Given the description of an element on the screen output the (x, y) to click on. 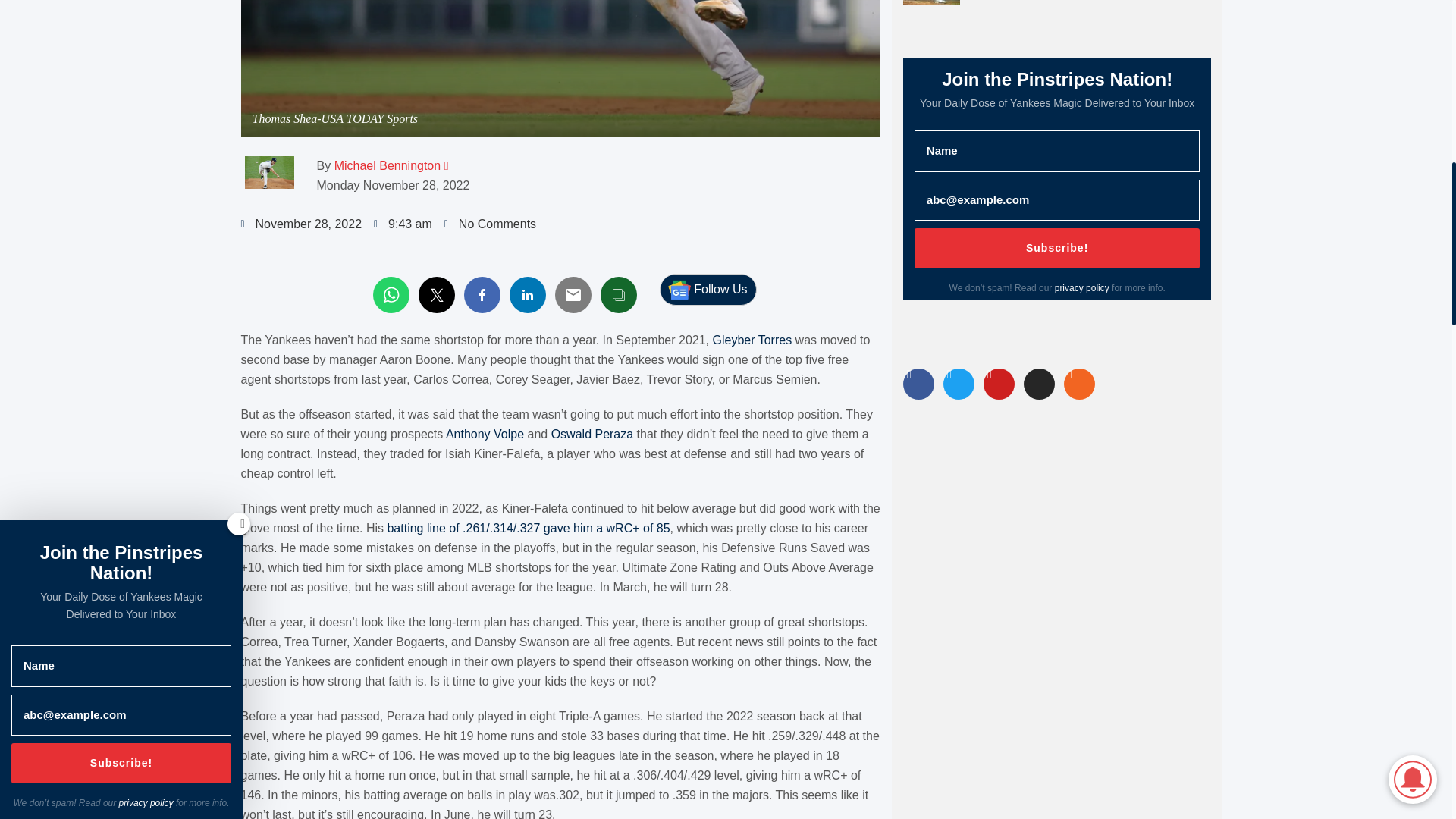
Michael Bennington (387, 164)
November 28, 2022 (301, 224)
No Comments (489, 224)
